Given the description of an element on the screen output the (x, y) to click on. 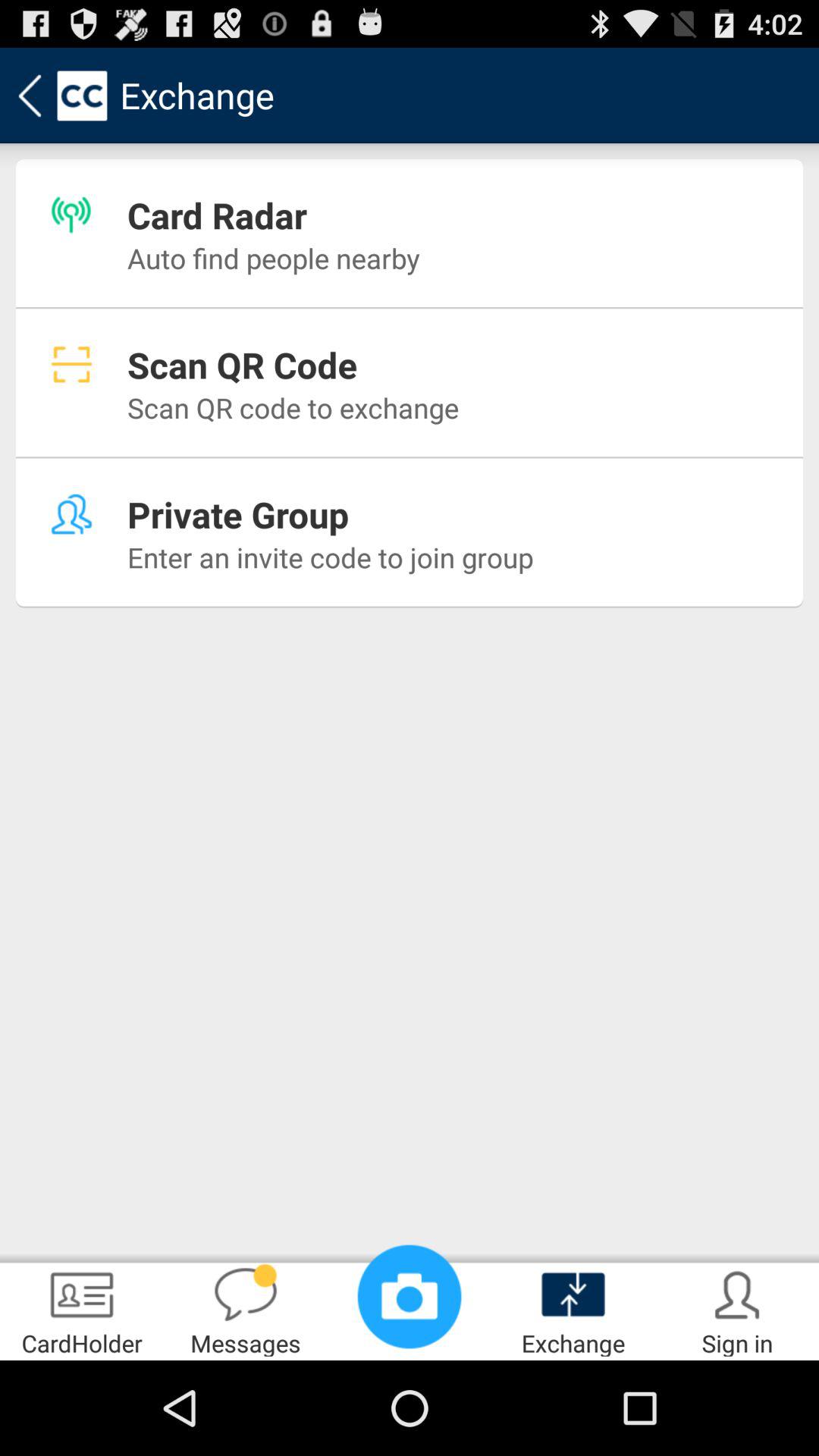
open the app to the right of exchange (737, 1309)
